Given the description of an element on the screen output the (x, y) to click on. 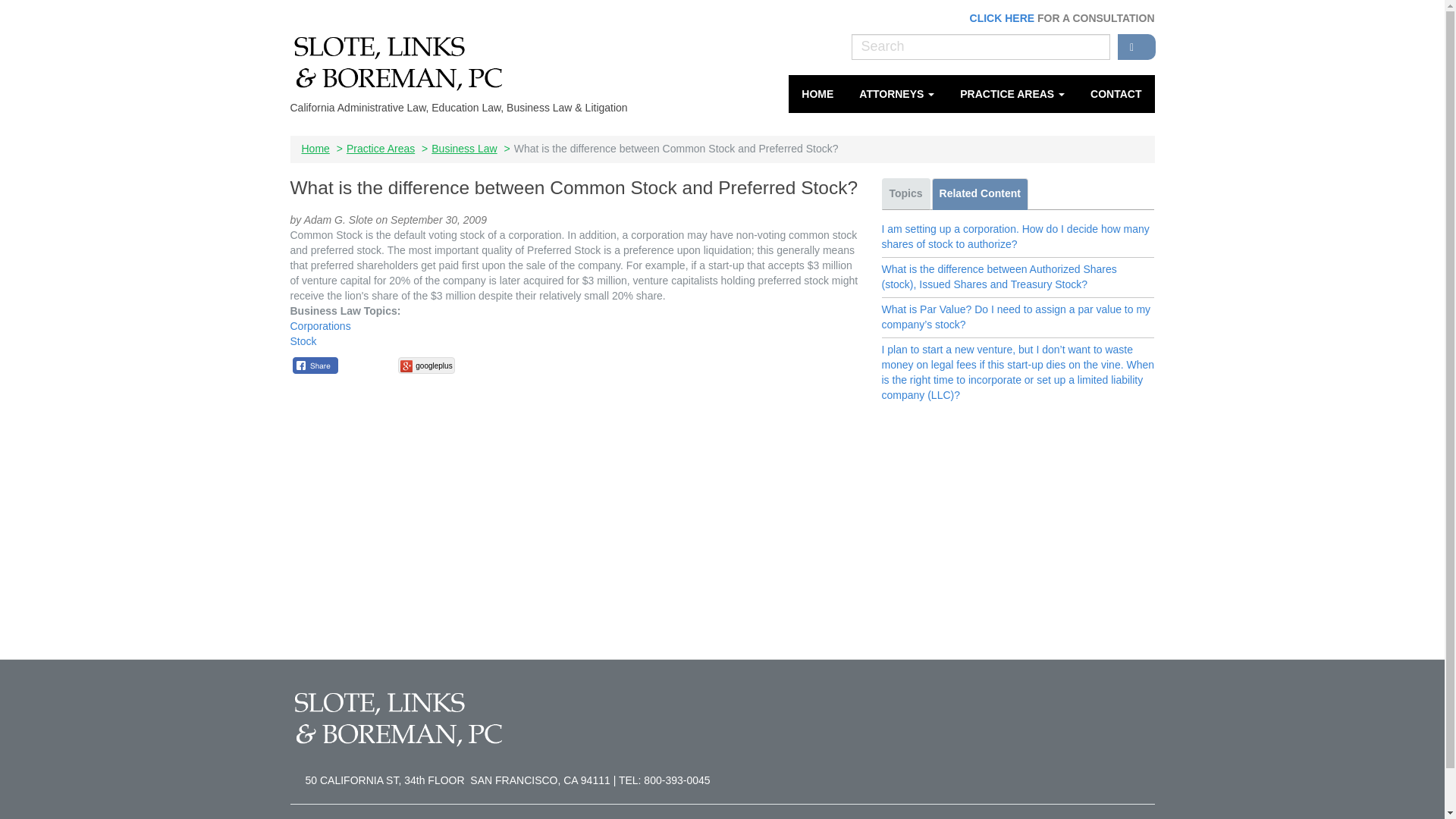
Corporations (319, 326)
CLICK HERE (1002, 18)
HOME (817, 94)
Home (817, 94)
Home (402, 60)
Stock (302, 340)
ATTORNEYS (895, 94)
Enter the terms you wish to search for. (979, 46)
CONTACT (1115, 94)
Topics (905, 193)
